Given the description of an element on the screen output the (x, y) to click on. 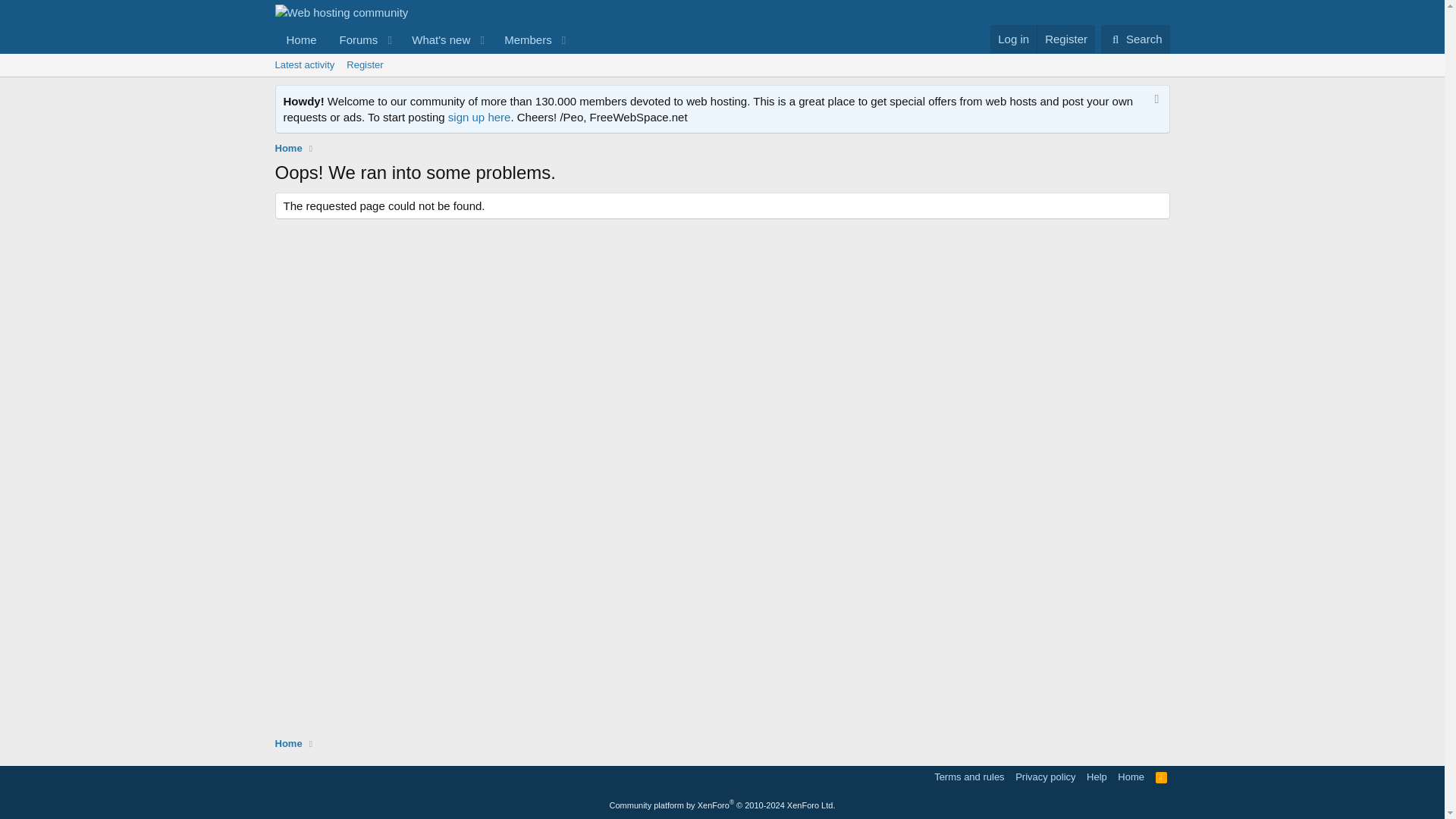
Register (364, 65)
Register (1065, 39)
What's new (435, 39)
Forums (423, 39)
Help (354, 39)
RSS (1096, 776)
Home (1161, 776)
RSS (1131, 776)
Search (1161, 776)
